Given the description of an element on the screen output the (x, y) to click on. 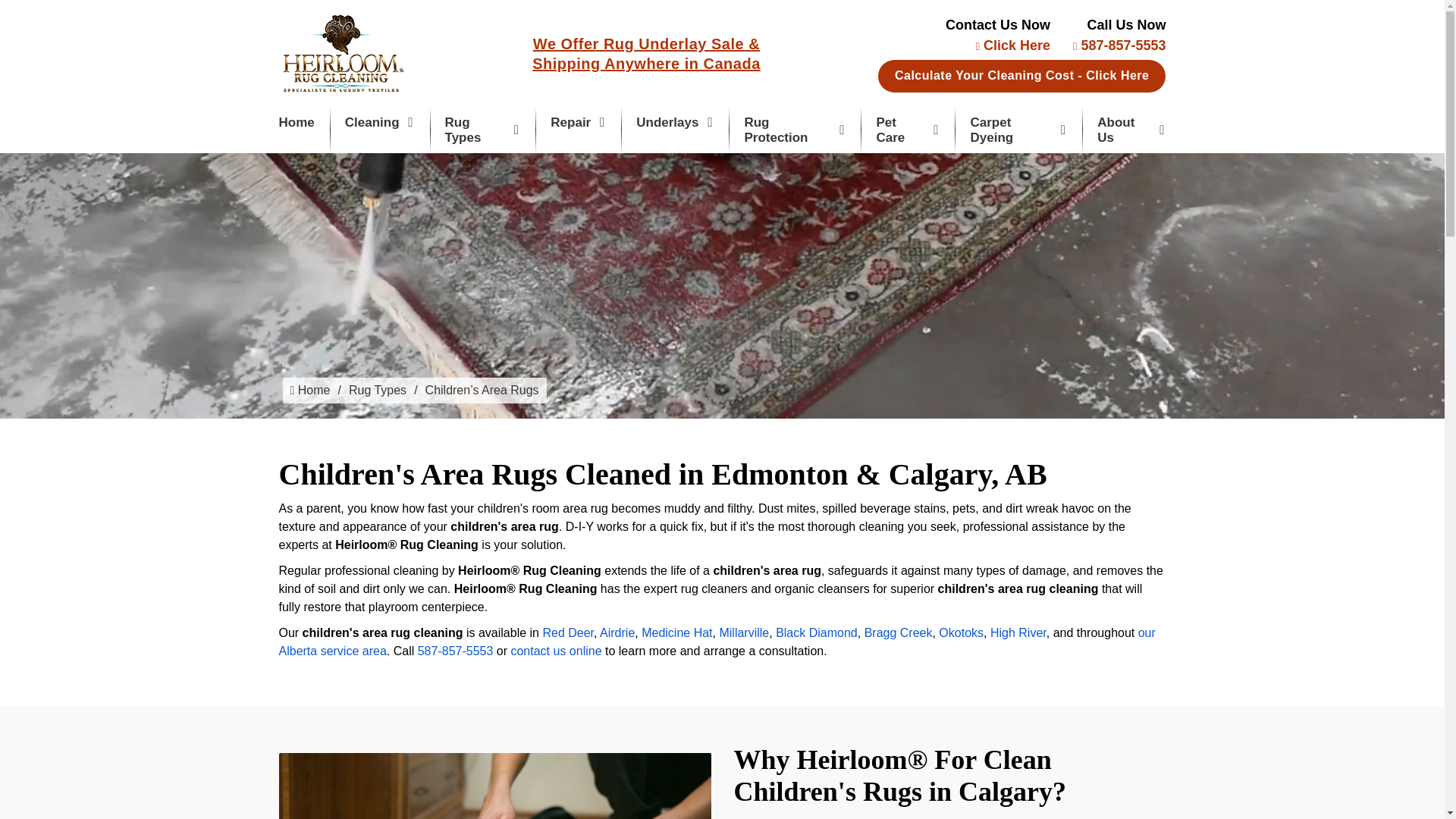
Calculate Your Cleaning Cost - Click Here (1021, 75)
587-857-5553 (1119, 45)
Home (296, 122)
Click Here (1012, 45)
Cleaning (379, 122)
